Given the description of an element on the screen output the (x, y) to click on. 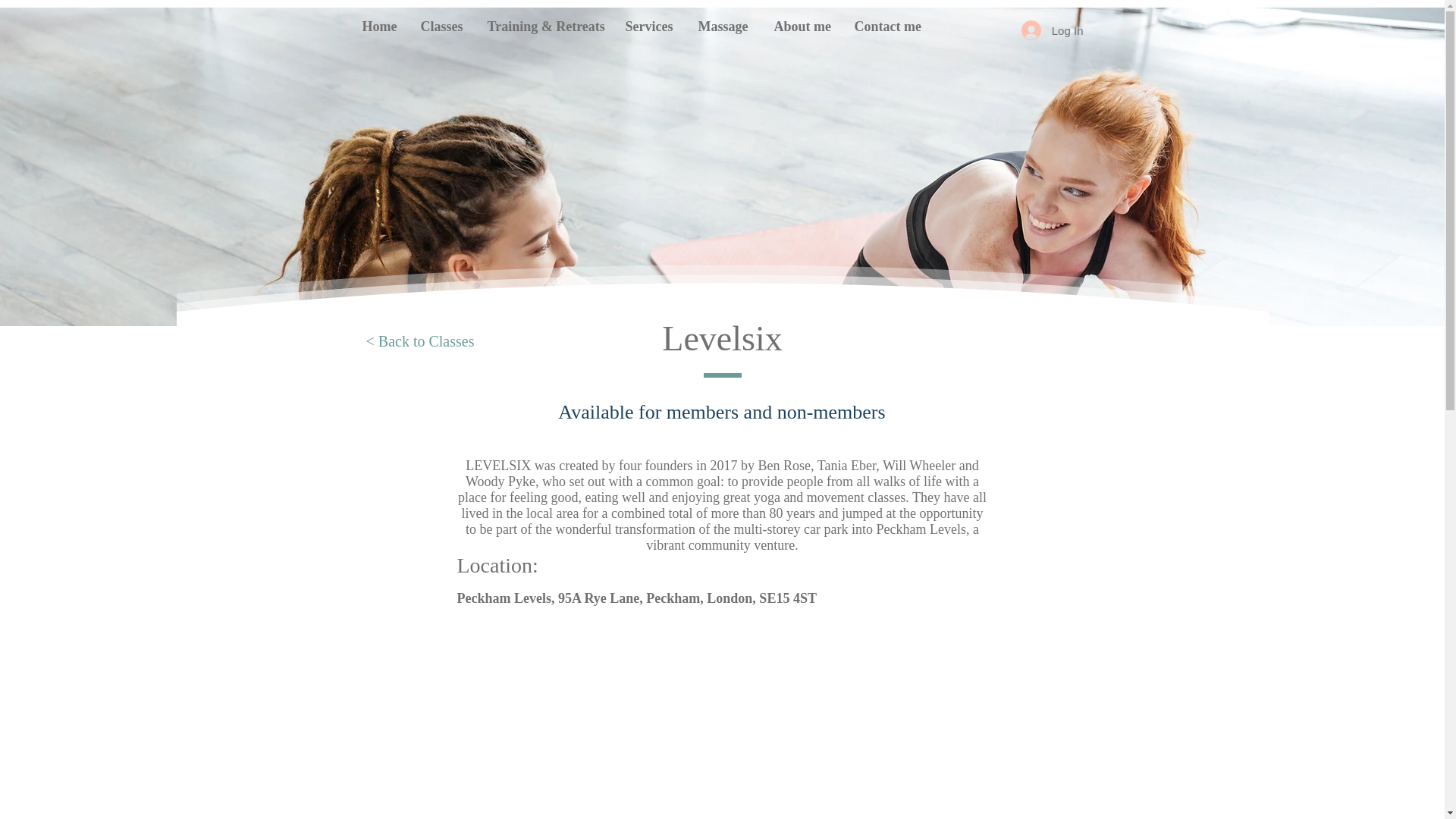
Contact me (888, 26)
Classes (442, 26)
Massage (724, 26)
Home (379, 26)
Log In (1052, 30)
Services (650, 26)
About me (802, 26)
